Given the description of an element on the screen output the (x, y) to click on. 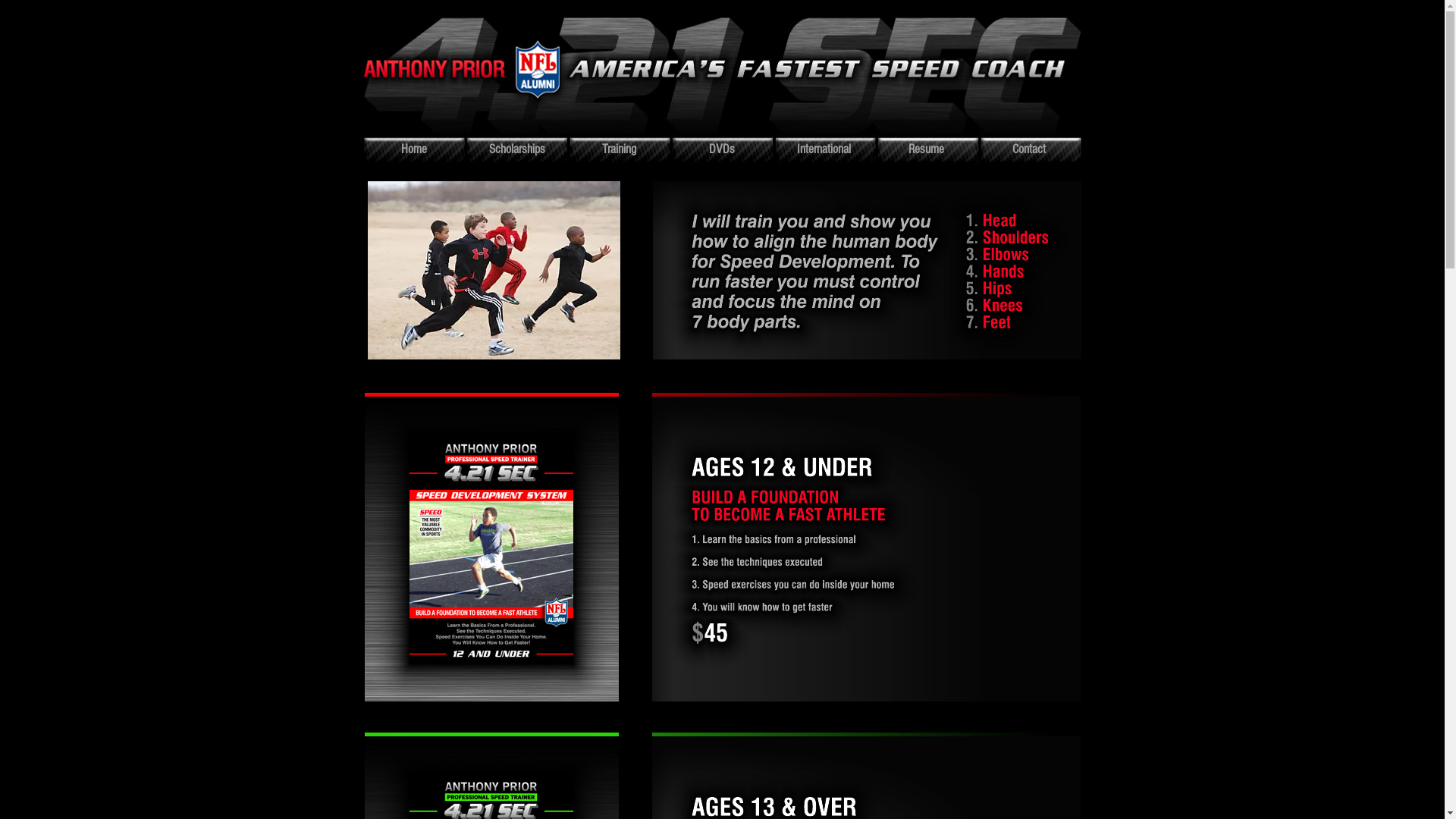
Contact Element type: text (1027, 149)
Scholarships Element type: text (516, 149)
Training Element type: text (618, 149)
DVD---main-A.png Element type: hover (866, 270)
DVDs Element type: text (721, 149)
Resume Element type: text (926, 149)
Home Element type: text (413, 149)
International Element type: text (822, 149)
